Given the description of an element on the screen output the (x, y) to click on. 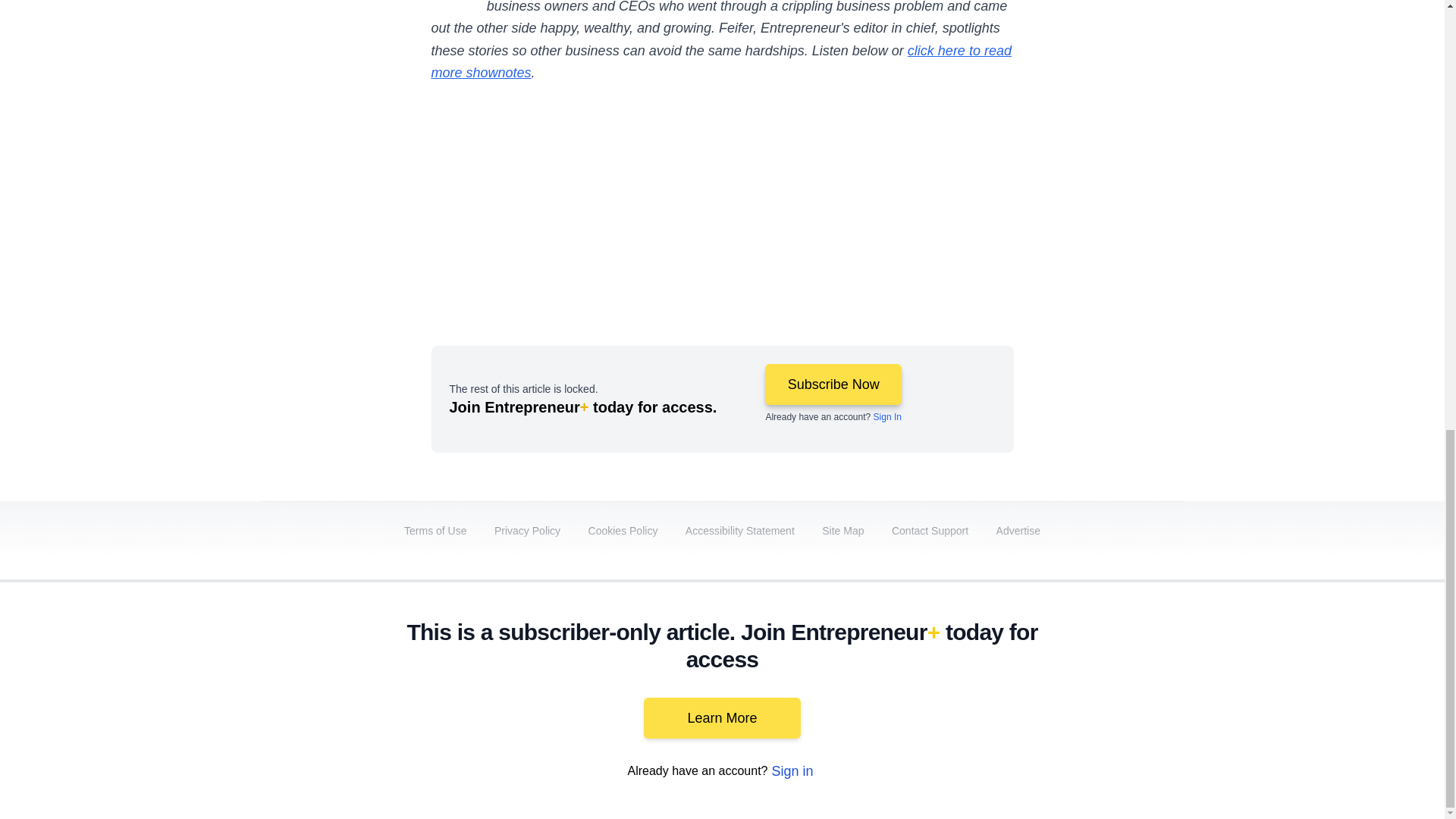
rss (1164, 691)
snapchat (1121, 691)
twitter (909, 691)
youtube (994, 691)
tiktok (1079, 691)
facebook (866, 691)
linkedin (952, 691)
instagram (1037, 691)
